Given the description of an element on the screen output the (x, y) to click on. 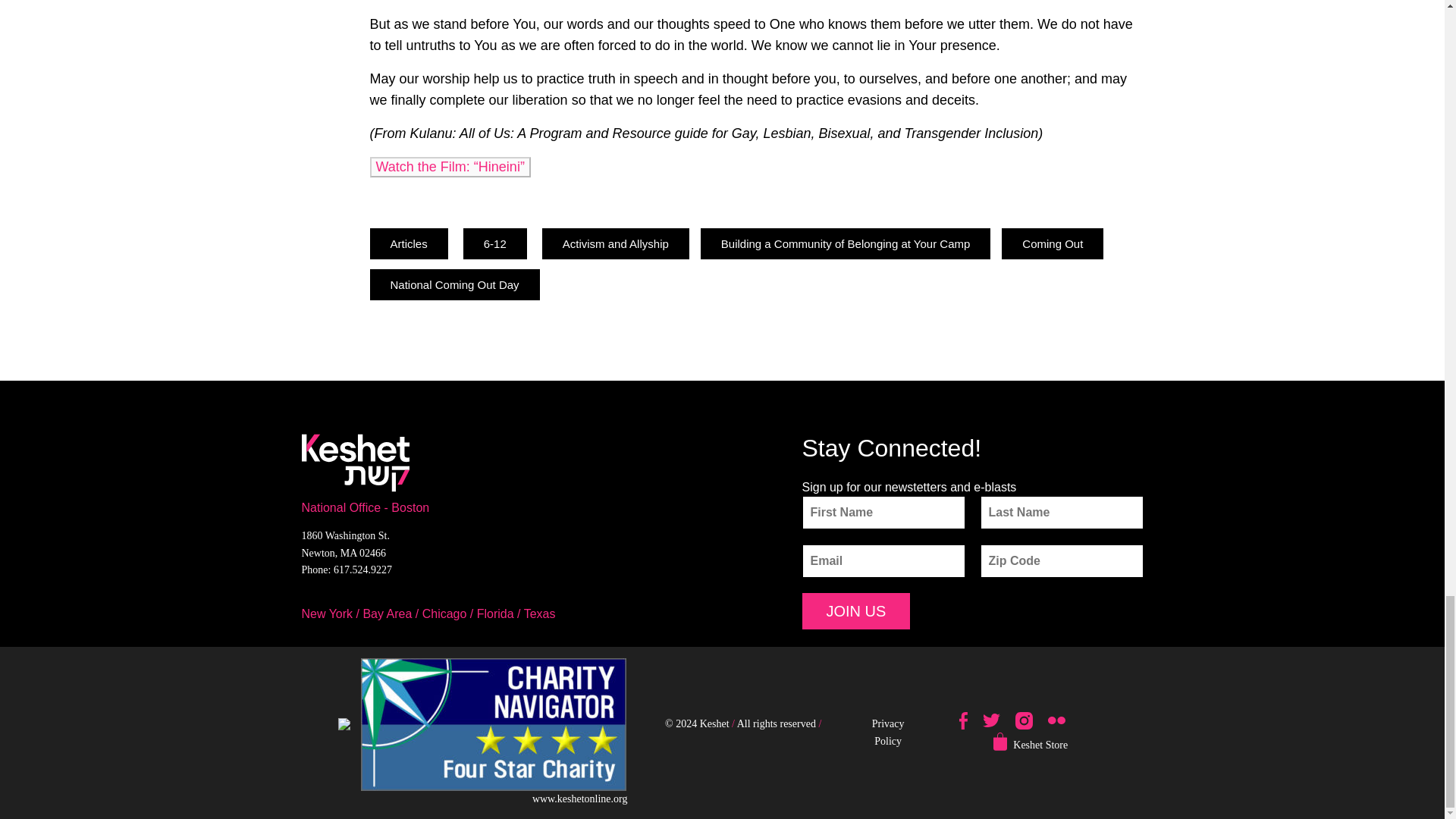
Activism and Allyship (614, 243)
Keshet Store (1040, 745)
National Coming Out Day (454, 284)
Building a Community of Belonging at Your Camp (845, 243)
Privacy Policy (888, 732)
Articles (408, 243)
6-12 (495, 243)
Coming Out (1052, 243)
JOIN US (856, 610)
